Given the description of an element on the screen output the (x, y) to click on. 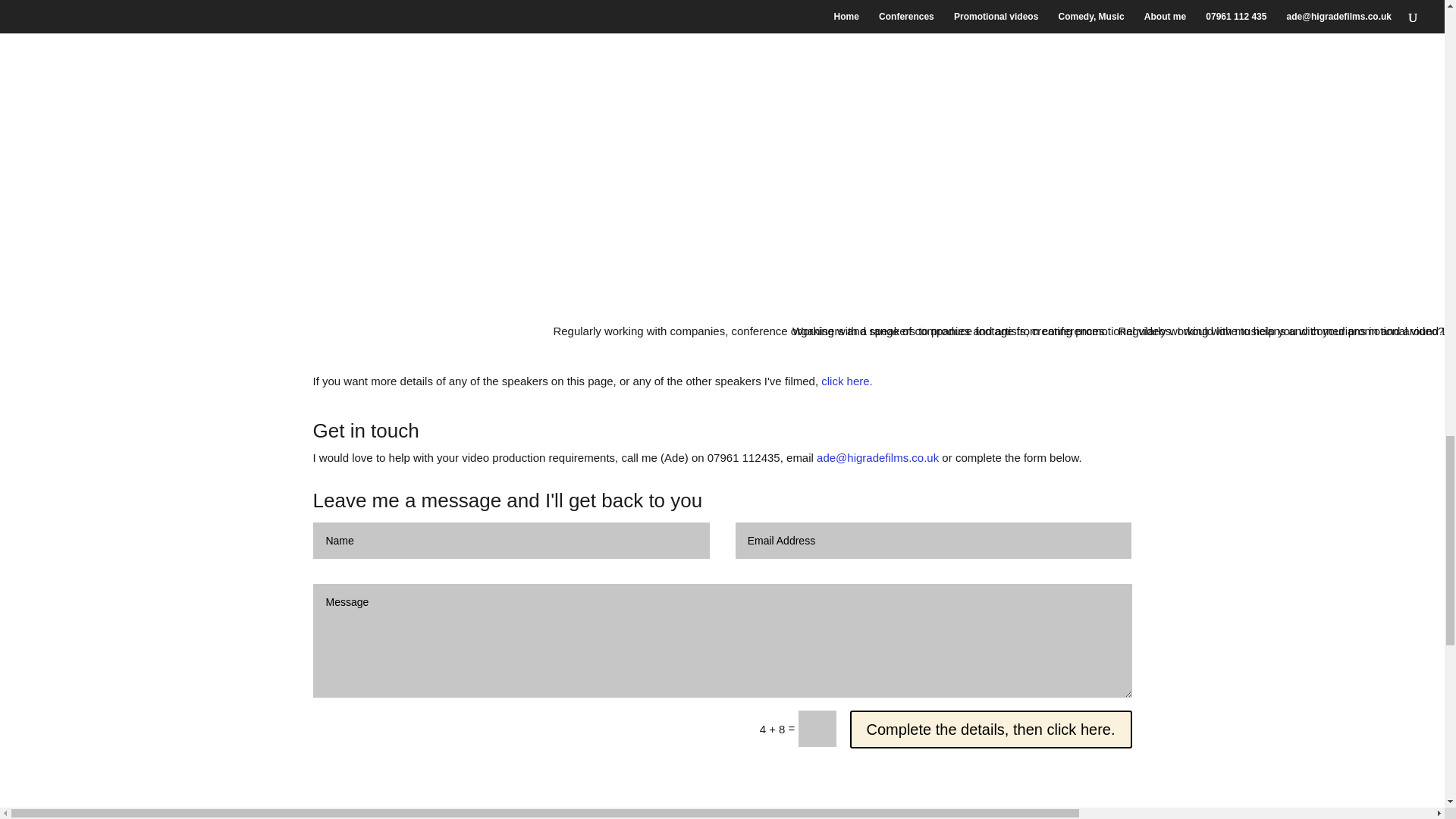
Testimonial from Derek Arden (720, 812)
click here. (846, 380)
Complete the details, then click here. (991, 729)
